Given the description of an element on the screen output the (x, y) to click on. 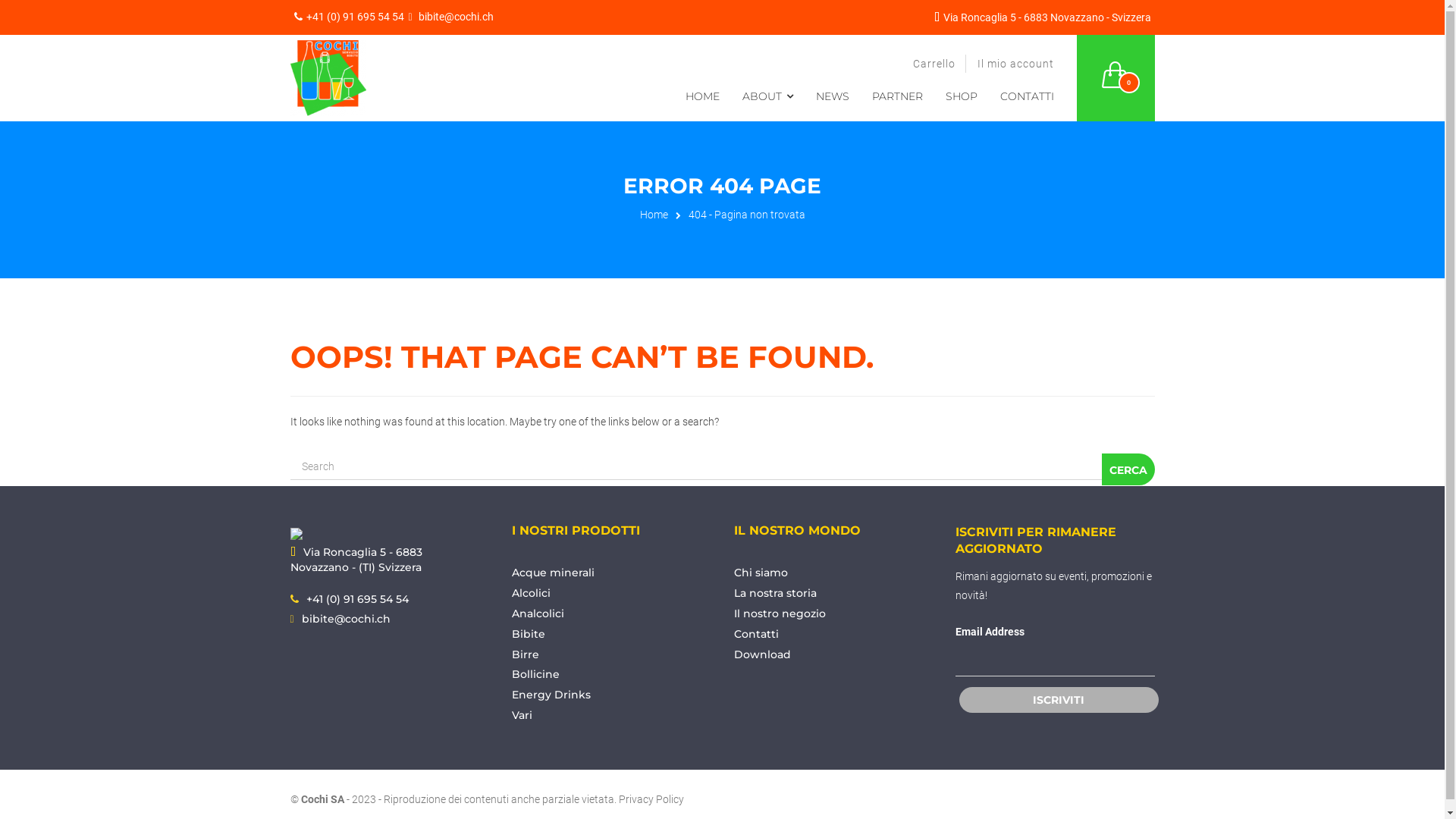
Birre Element type: text (525, 654)
Acque minerali Element type: text (552, 572)
bibite@cochi.ch Element type: text (449, 16)
CONTATTI Element type: text (1028, 95)
HOME Element type: text (703, 95)
Contatti Element type: text (756, 633)
Il nostro negozio Element type: text (779, 613)
PARTNER Element type: text (898, 95)
Bibite Element type: text (528, 633)
ABOUT Element type: text (769, 95)
Bollicine Element type: text (535, 673)
Cerca Element type: text (1127, 469)
Alcolici Element type: text (530, 592)
bibite@cochi.ch Element type: text (345, 618)
Iscriviti Element type: text (1058, 699)
0 Element type: text (1115, 65)
La nostra storia Element type: text (775, 592)
Download Element type: text (762, 654)
Via Roncaglia 5 - 6883
Novazzano - (TI) Svizzera Element type: text (355, 559)
+41 (0) 91 695 54 54 Element type: text (357, 598)
Chi siamo Element type: text (760, 572)
Home Element type: text (654, 214)
Via Roncaglia 5 - 6883 Novazzano - Svizzera Element type: text (1047, 16)
Vari Element type: text (521, 714)
Energy Drinks Element type: text (550, 694)
+41 (0) 91 695 54 54 Element type: text (349, 16)
Analcolici Element type: text (537, 613)
Carrello Element type: text (934, 63)
SHOP Element type: text (963, 95)
NEWS Element type: text (833, 95)
Il mio account Element type: text (1014, 63)
Privacy Policy Element type: text (651, 799)
